Given the description of an element on the screen output the (x, y) to click on. 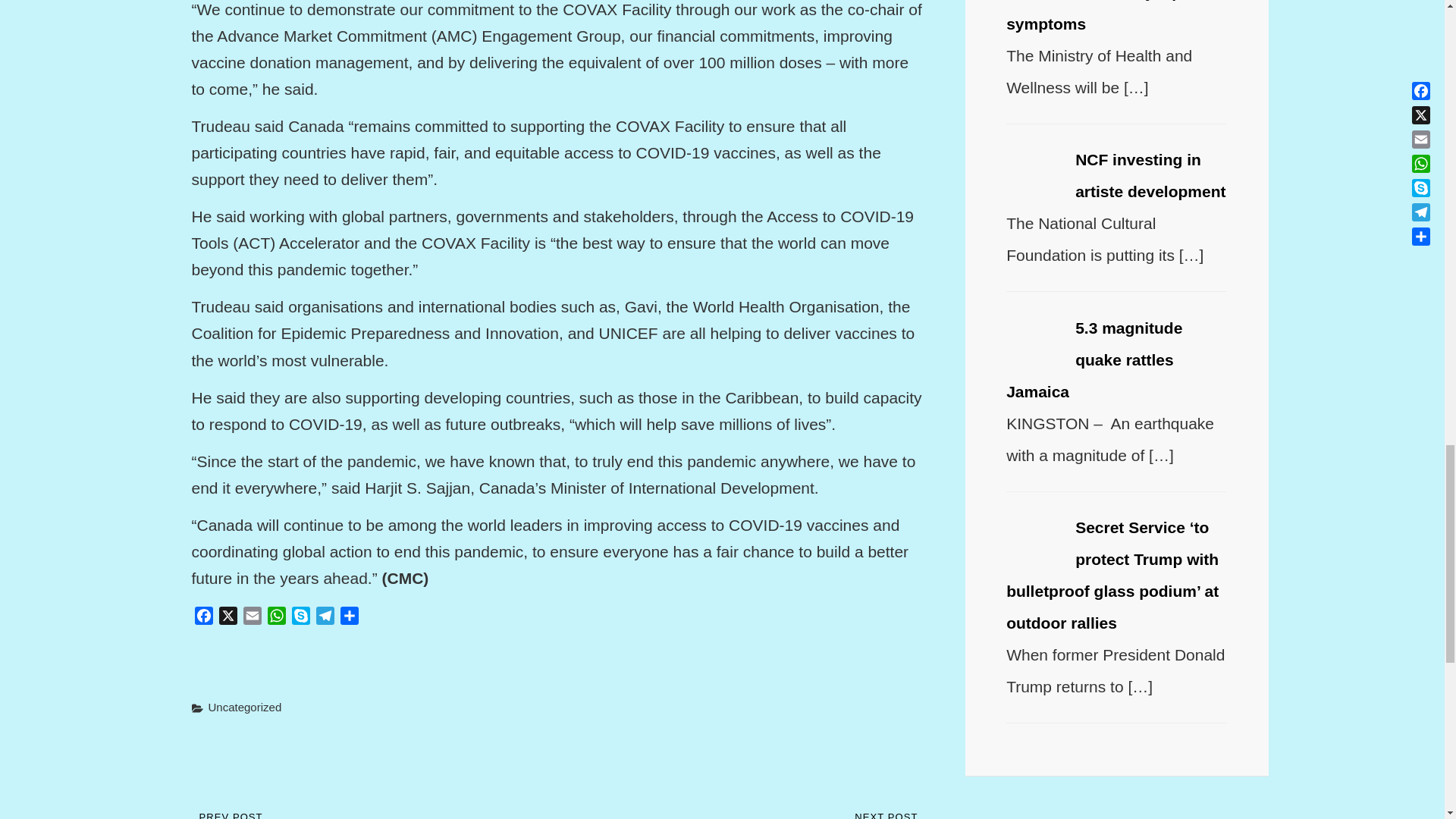
Uncategorized (244, 707)
Telegram (324, 617)
WhatsApp (275, 617)
Ministry on alert to detect any Mpox symptoms (1111, 16)
X (227, 617)
X (227, 617)
WhatsApp (275, 617)
Facebook (202, 617)
